Given the description of an element on the screen output the (x, y) to click on. 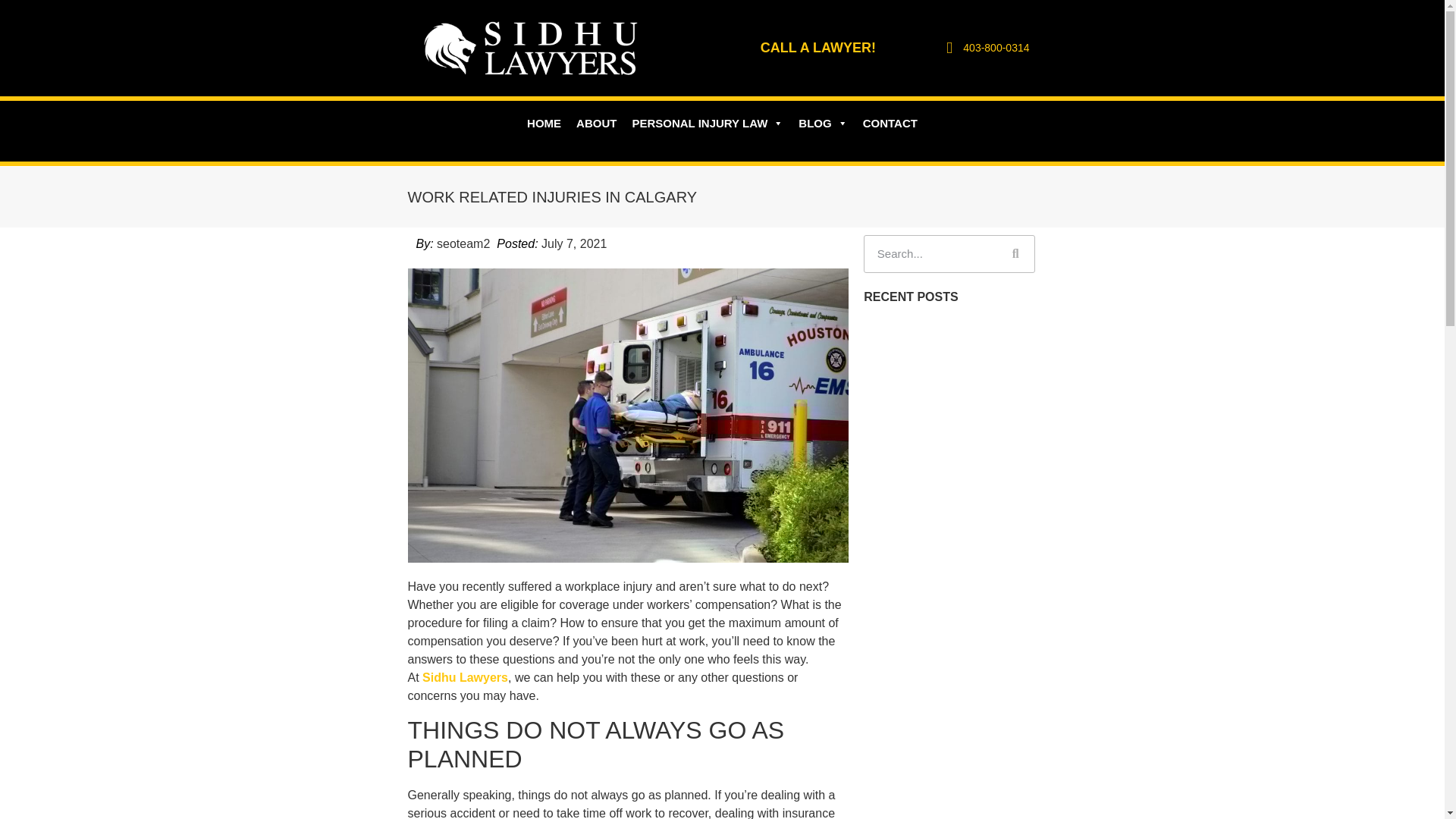
ABOUT (596, 123)
CALL A LAWYER! (818, 47)
HOME (544, 123)
403-800-0314 (984, 48)
PERSONAL INJURY LAW (707, 123)
